Given the description of an element on the screen output the (x, y) to click on. 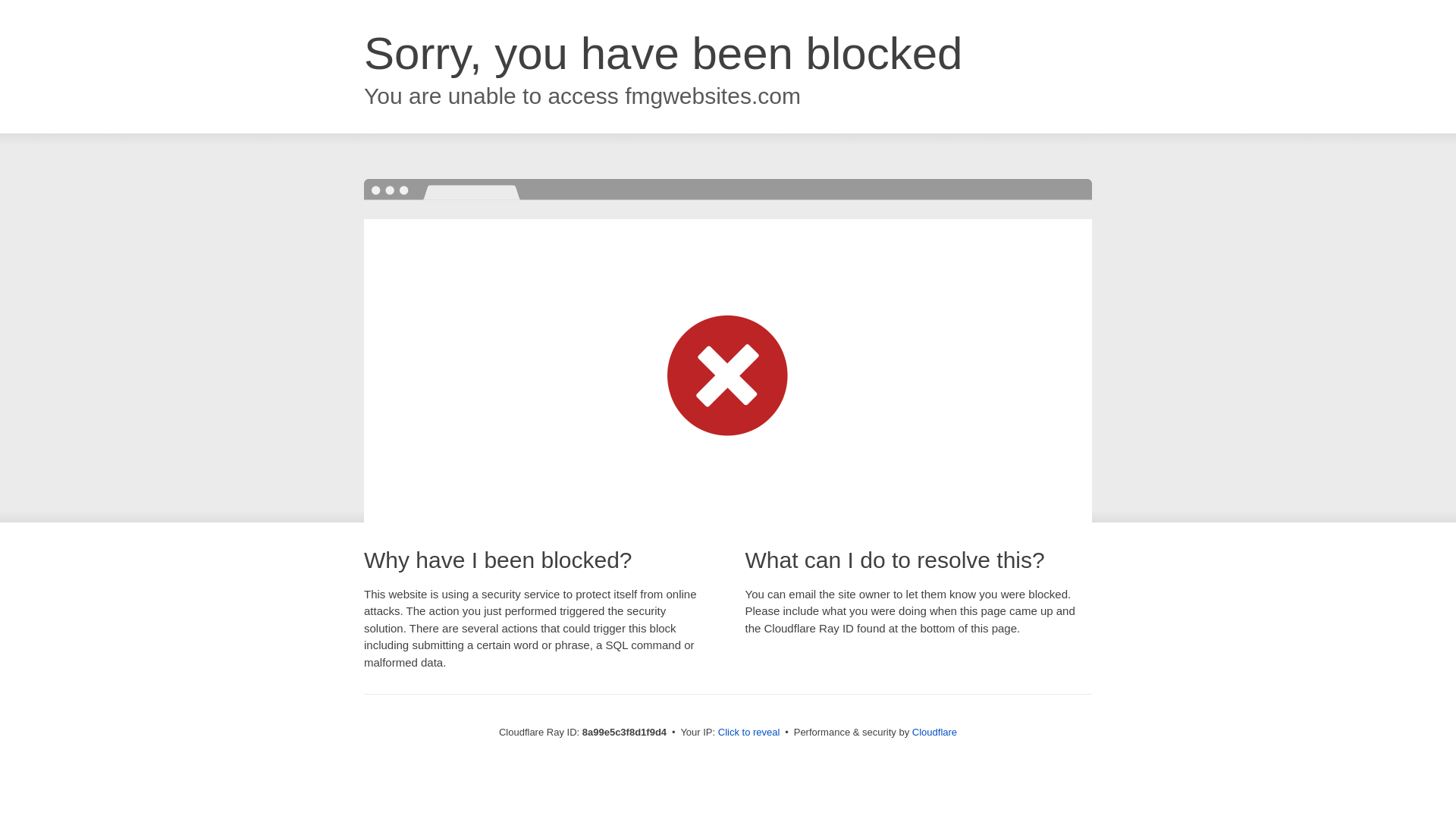
Cloudflare (934, 731)
Click to reveal (748, 732)
